Given the description of an element on the screen output the (x, y) to click on. 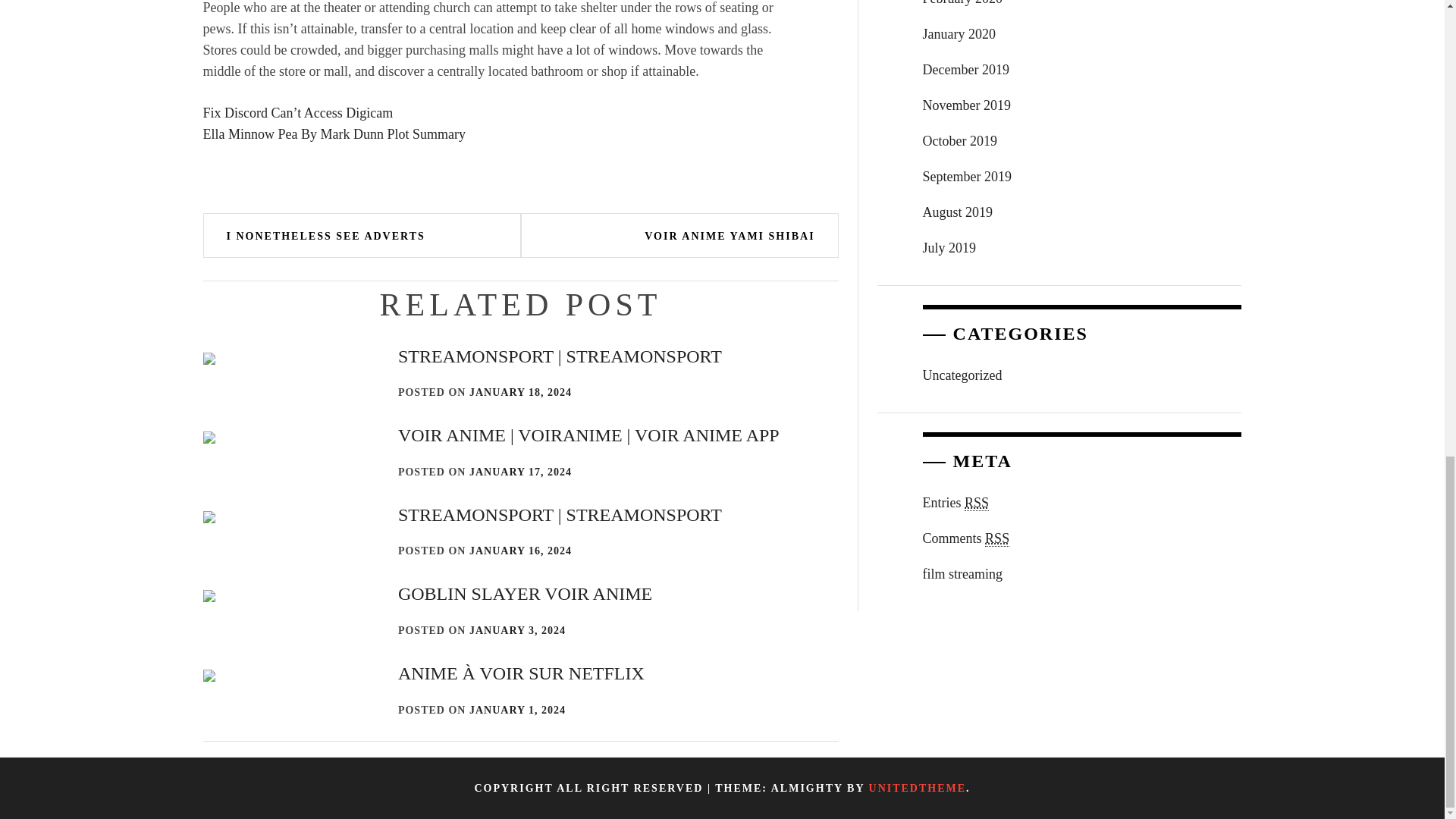
JANUARY 18, 2024 (520, 392)
JANUARY 17, 2024 (520, 471)
Ella Minnow Pea By Mark Dunn Plot Summary (334, 133)
Really Simple Syndication (997, 538)
VOIR ANIME YAMI SHIBAI (729, 236)
Really Simple Syndication (975, 503)
JANUARY 16, 2024 (520, 550)
GOBLIN SLAYER VOIR ANIME (524, 593)
I NONETHELESS SEE ADVERTS (325, 236)
JANUARY 3, 2024 (517, 630)
JANUARY 1, 2024 (517, 709)
